Given the description of an element on the screen output the (x, y) to click on. 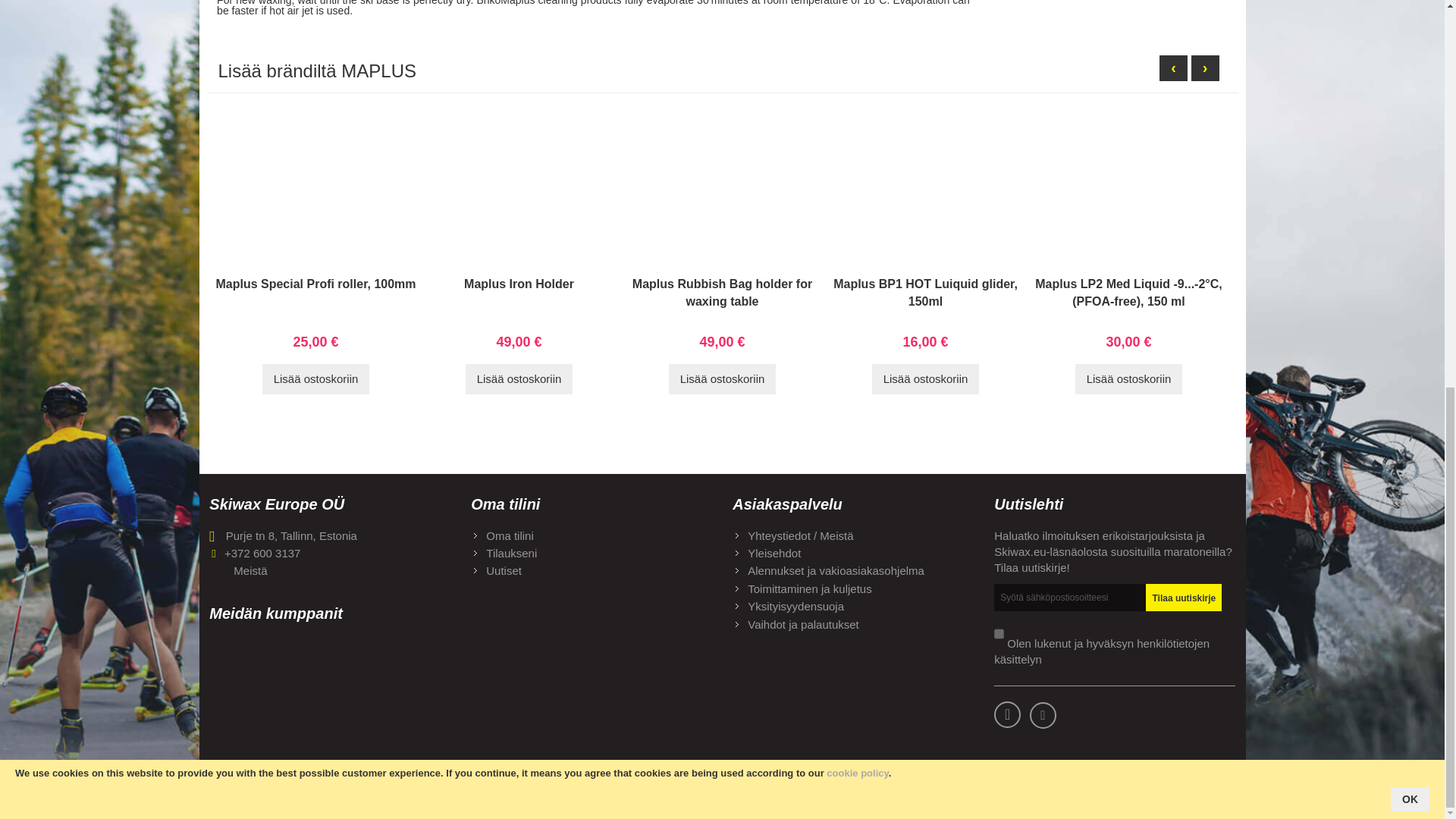
OK (1409, 65)
1 (999, 634)
cookie policy (857, 39)
